Given the description of an element on the screen output the (x, y) to click on. 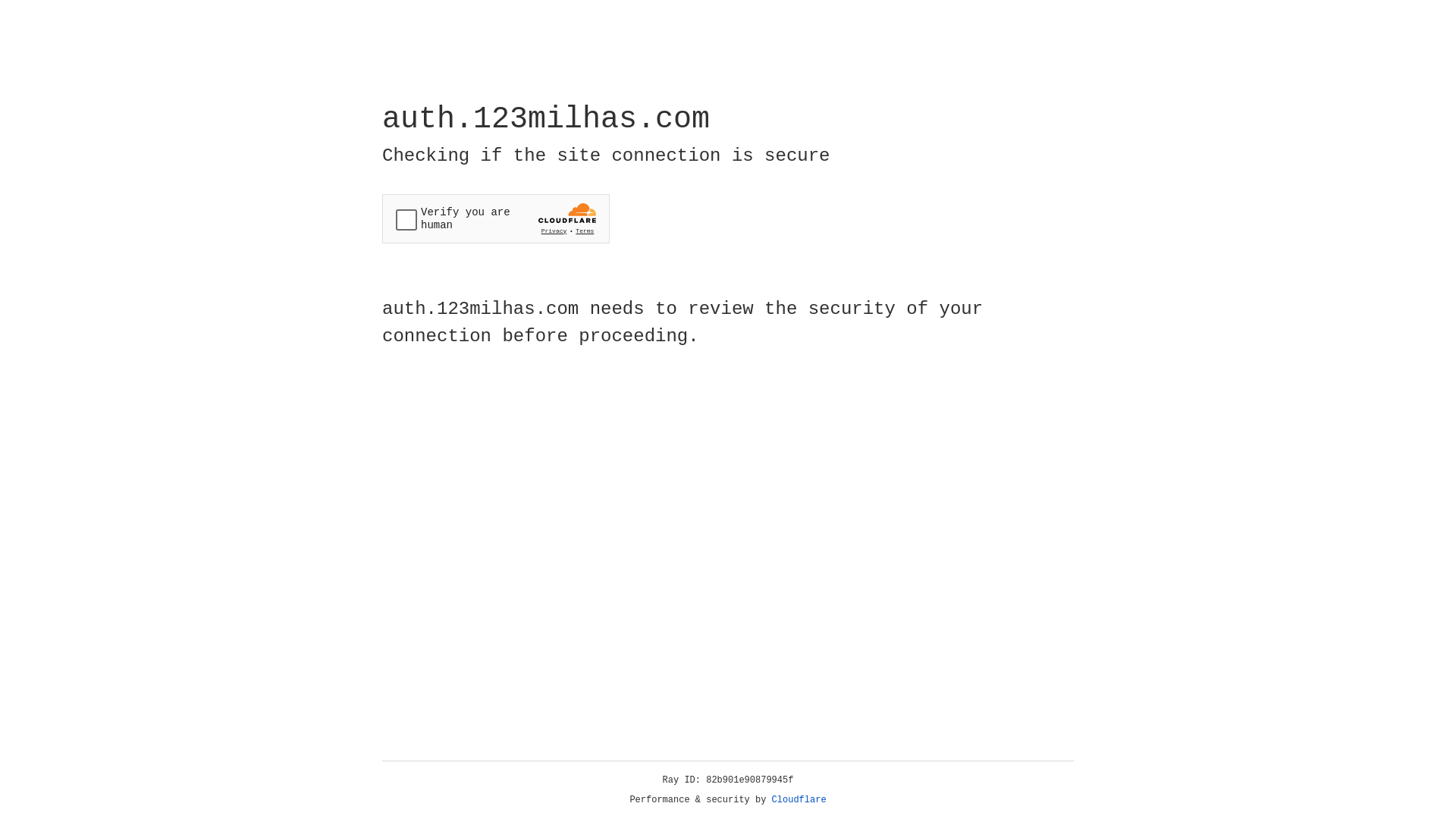
Cloudflare Element type: text (798, 799)
Widget containing a Cloudflare security challenge Element type: hover (495, 218)
